Given the description of an element on the screen output the (x, y) to click on. 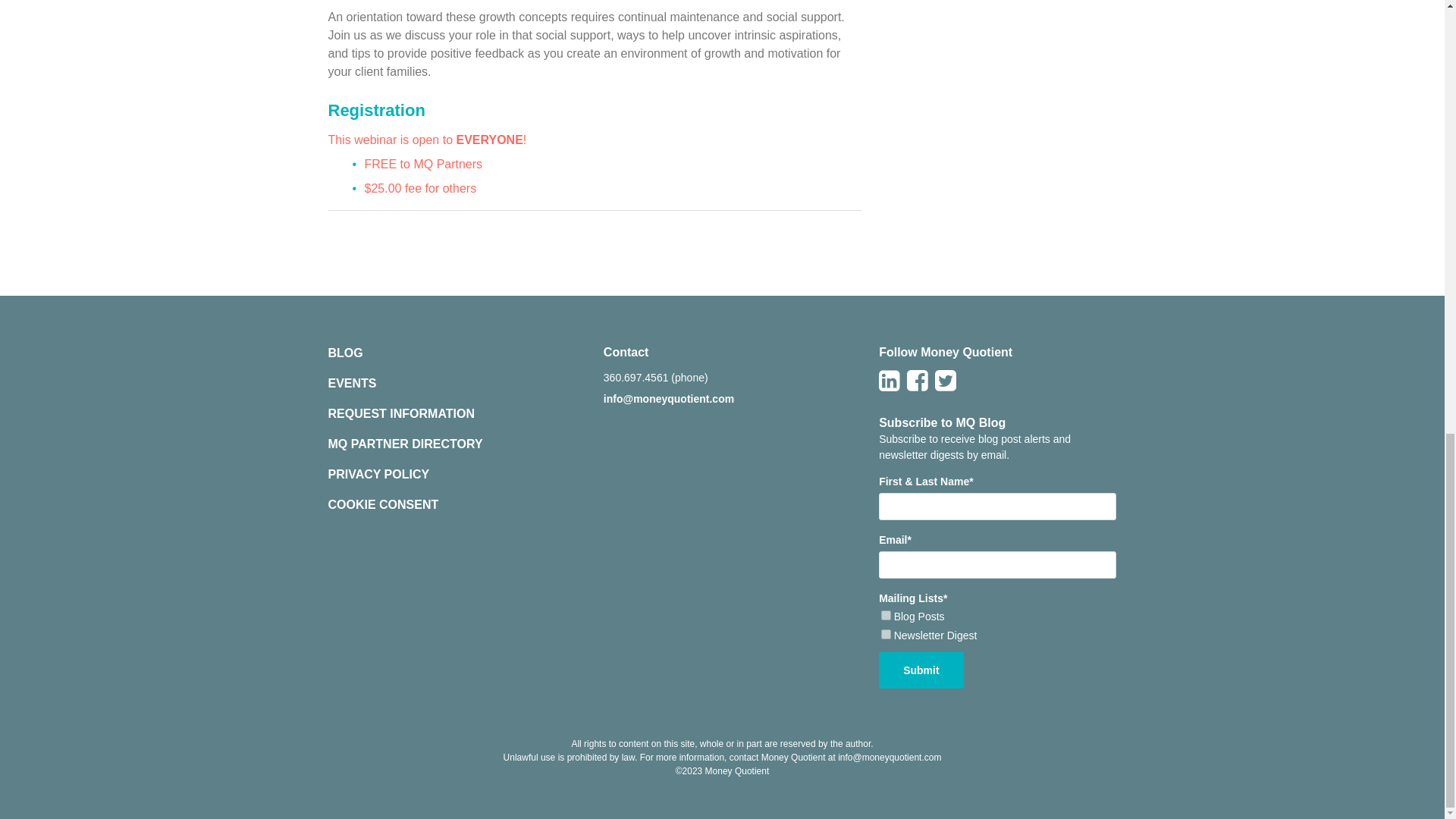
COOKIE CONSENT (382, 504)
REQUEST INFORMATION (400, 413)
Submit (920, 669)
PRIVACY POLICY (378, 473)
EVENTS (351, 382)
MQ PARTNER DIRECTORY (404, 443)
f0a9d1acb490 (885, 614)
BLOG (344, 352)
e386068f8241 (885, 634)
